Given the description of an element on the screen output the (x, y) to click on. 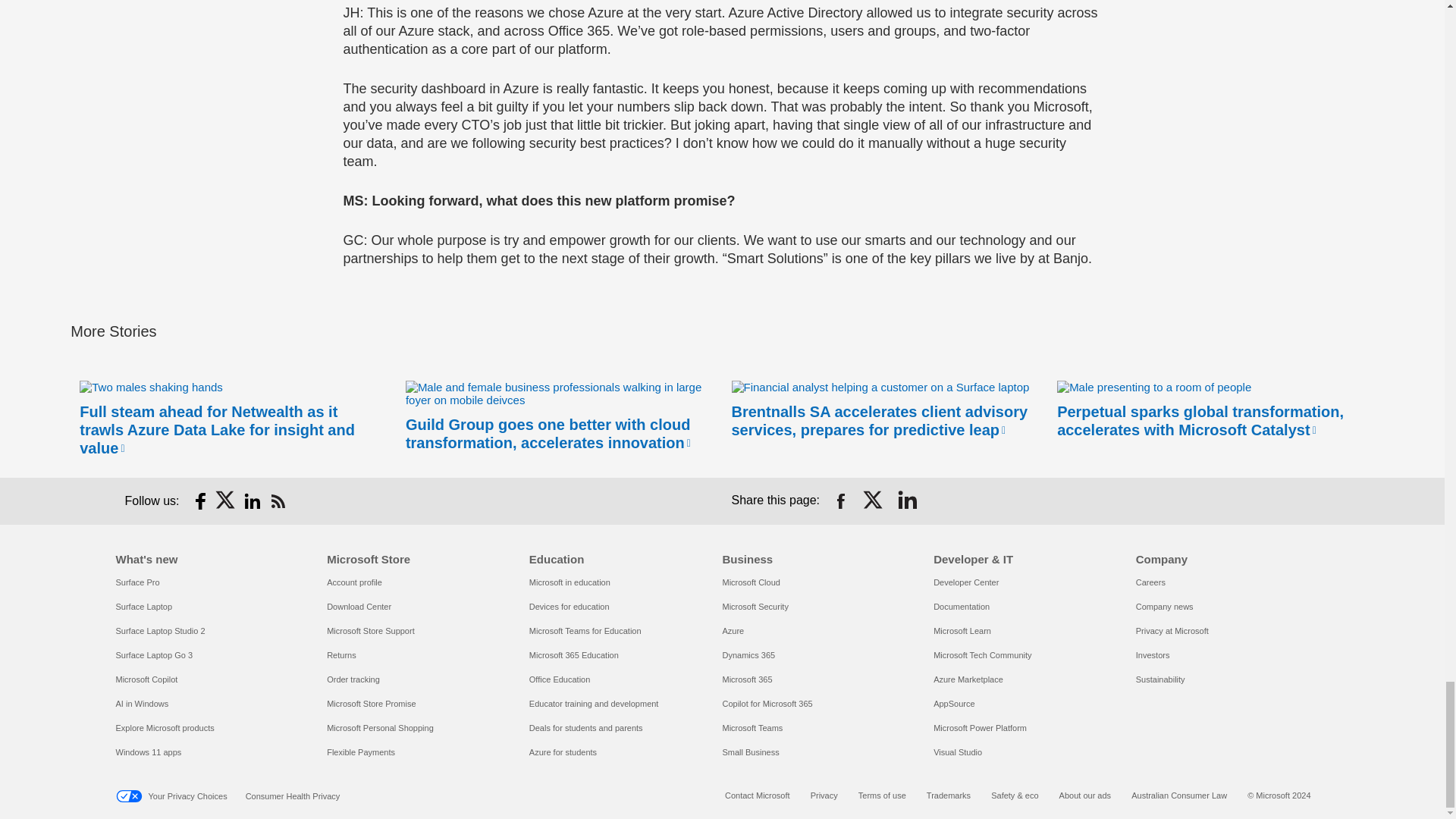
Share on LinkedIn (907, 500)
RSS Subscription (277, 500)
Share on Facebook (840, 500)
Follow on Twitter (226, 500)
Follow on Facebook (200, 500)
Share on Twitter (873, 500)
Follow on LinkedIn (252, 500)
